Given the description of an element on the screen output the (x, y) to click on. 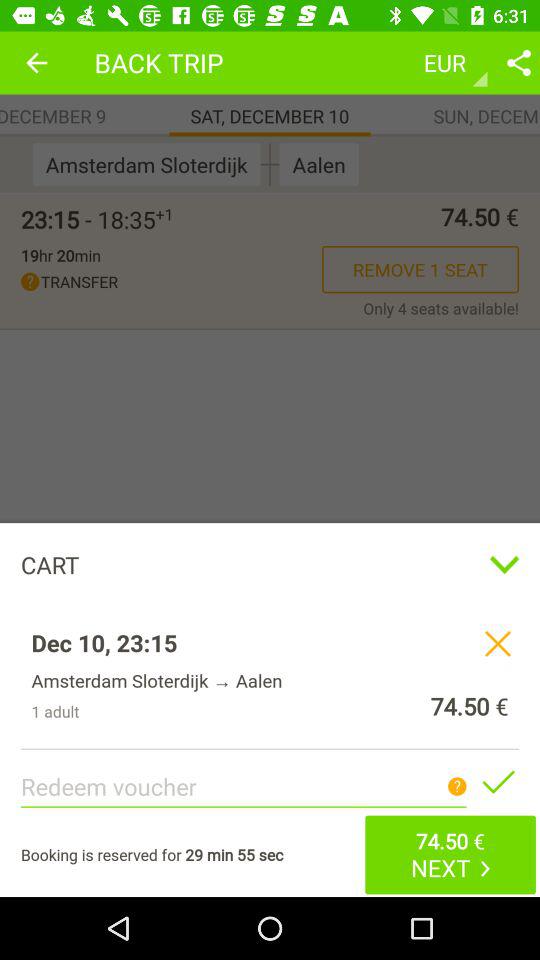
launch the 19hr 20min icon (60, 255)
